Given the description of an element on the screen output the (x, y) to click on. 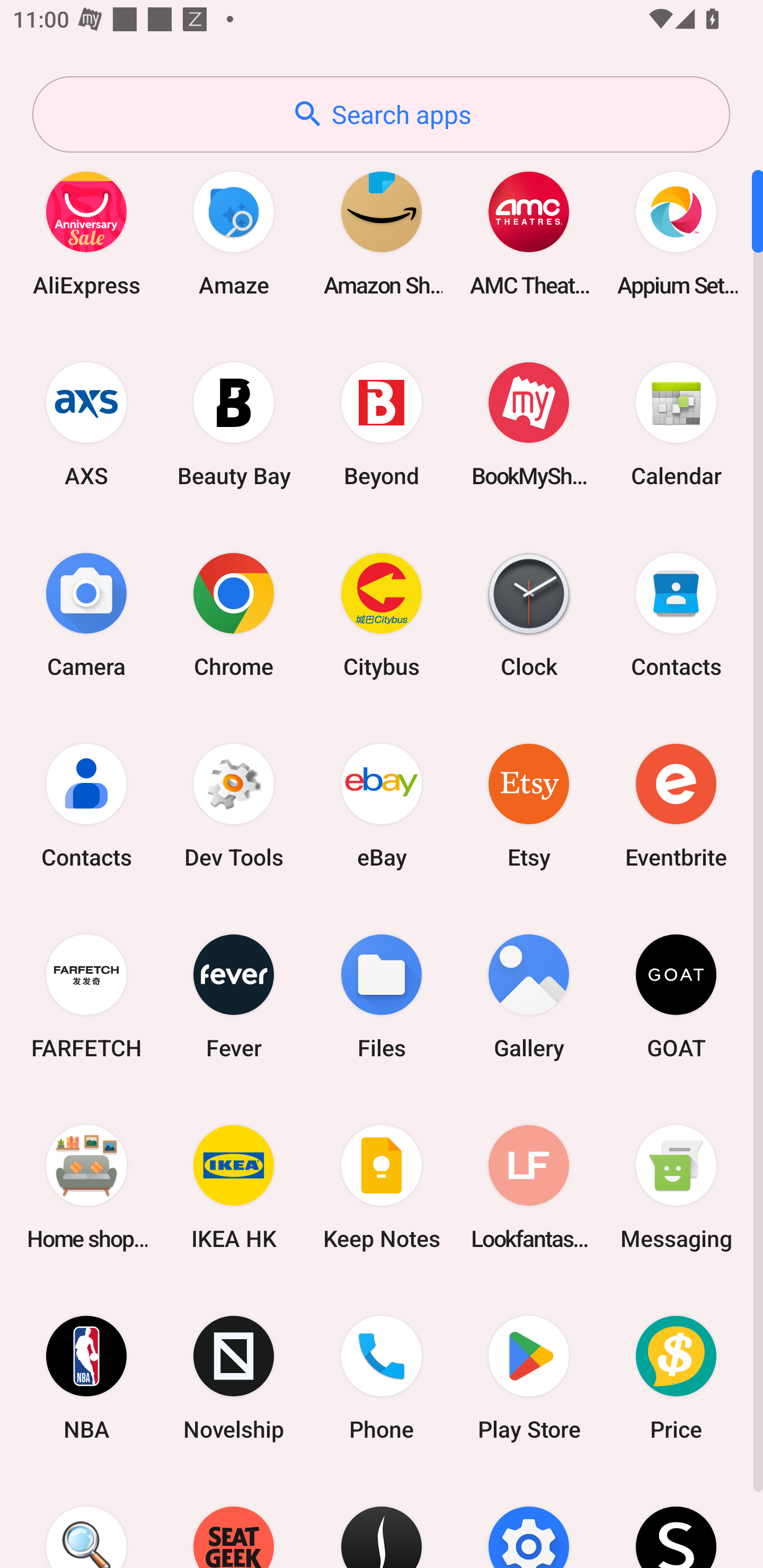
  Search apps (381, 114)
AliExpress (86, 233)
Amaze (233, 233)
Amazon Shopping (381, 233)
AMC Theatres (528, 233)
Appium Settings (676, 233)
AXS (86, 424)
Beauty Bay (233, 424)
Beyond (381, 424)
BookMyShow (528, 424)
Calendar (676, 424)
Camera (86, 614)
Chrome (233, 614)
Citybus (381, 614)
Clock (528, 614)
Contacts (676, 614)
Contacts (86, 805)
Dev Tools (233, 805)
eBay (381, 805)
Etsy (528, 805)
Eventbrite (676, 805)
FARFETCH (86, 996)
Fever (233, 996)
Files (381, 996)
Gallery (528, 996)
GOAT (676, 996)
Home shopping (86, 1186)
IKEA HK (233, 1186)
Keep Notes (381, 1186)
Lookfantastic (528, 1186)
Messaging (676, 1186)
NBA (86, 1377)
Novelship (233, 1377)
Phone (381, 1377)
Play Store (528, 1377)
Price (676, 1377)
